Given the description of an element on the screen output the (x, y) to click on. 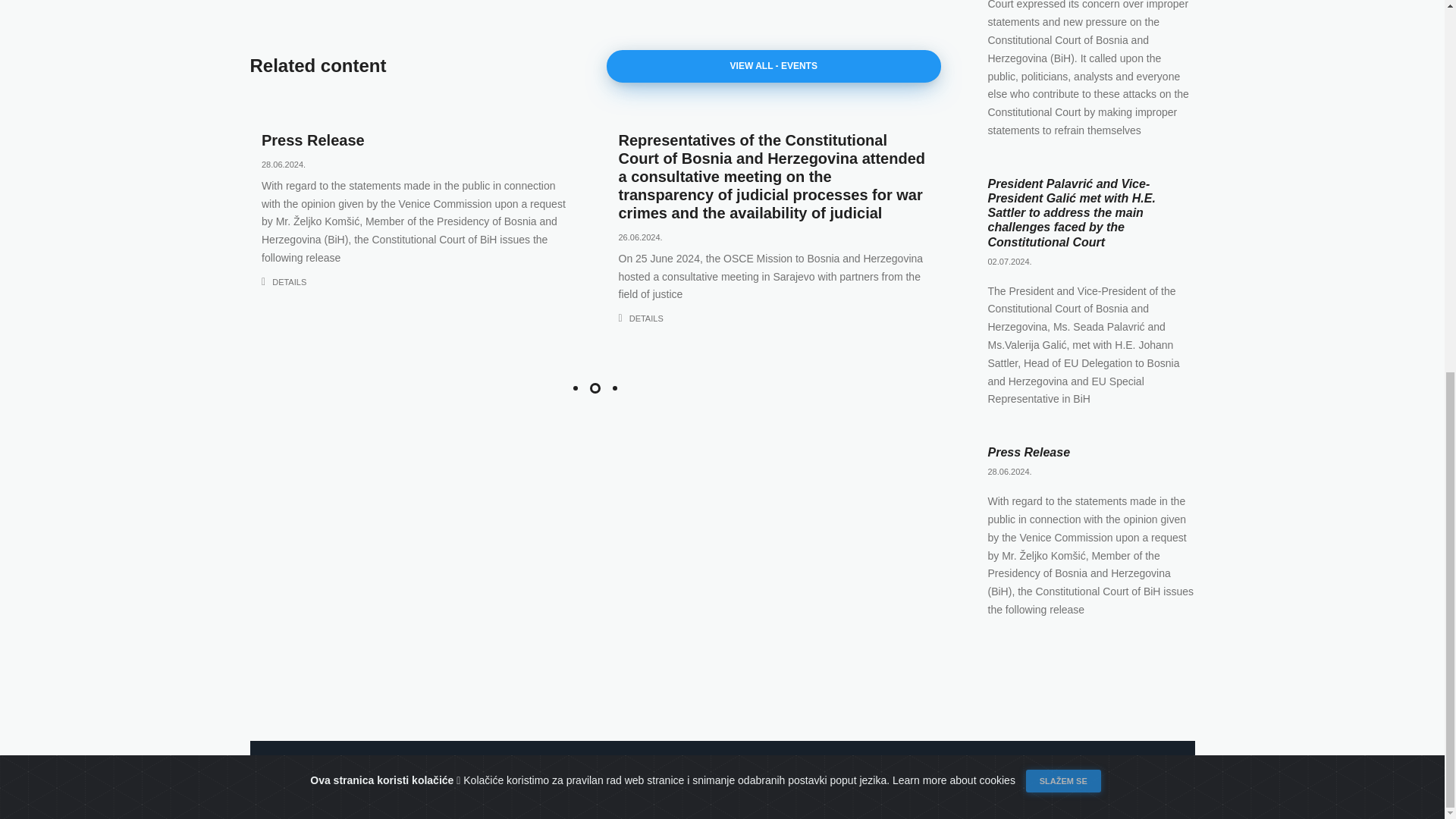
Learn more about cookies (954, 100)
